Given the description of an element on the screen output the (x, y) to click on. 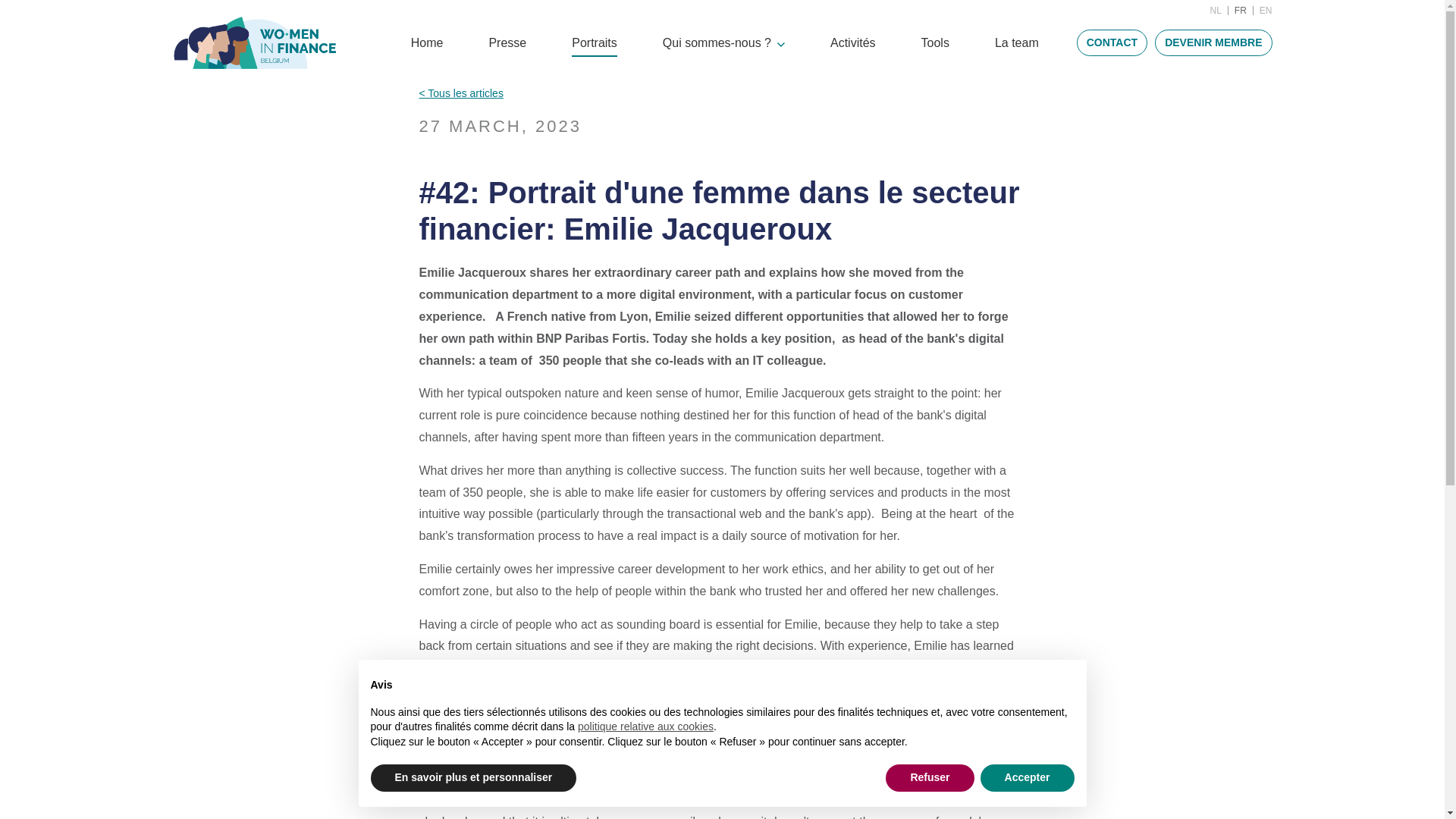
Portraits (594, 42)
politique relative aux cookies (645, 726)
NL (1215, 9)
Home (427, 42)
Refuser (929, 777)
CONTACT (1112, 42)
En savoir plus et personnaliser (472, 777)
FR (1240, 9)
Qui sommes-nous ? (723, 42)
Tools (935, 42)
La team (1016, 42)
Accepter (1026, 777)
EN (1265, 9)
Presse (506, 42)
DEVENIR MEMBRE (1212, 42)
